Given the description of an element on the screen output the (x, y) to click on. 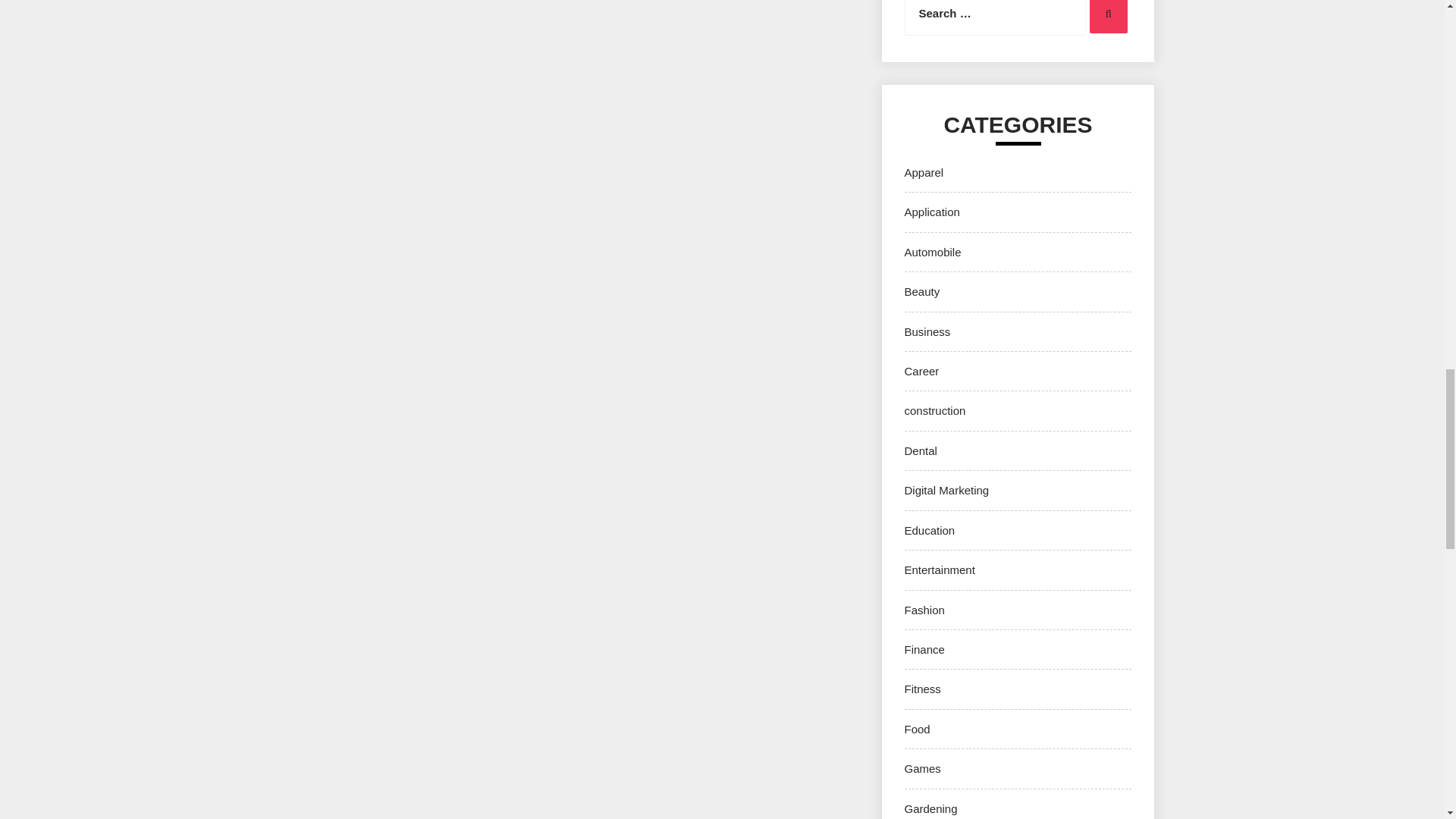
Career (921, 370)
Search (1107, 16)
Finance (923, 649)
Education (929, 530)
Entertainment (939, 569)
Automobile (932, 251)
construction (934, 410)
Application (931, 211)
Fashion (923, 609)
Digital Marketing (946, 490)
Dental (920, 450)
Beauty (921, 291)
Apparel (923, 172)
Business (927, 331)
